Given the description of an element on the screen output the (x, y) to click on. 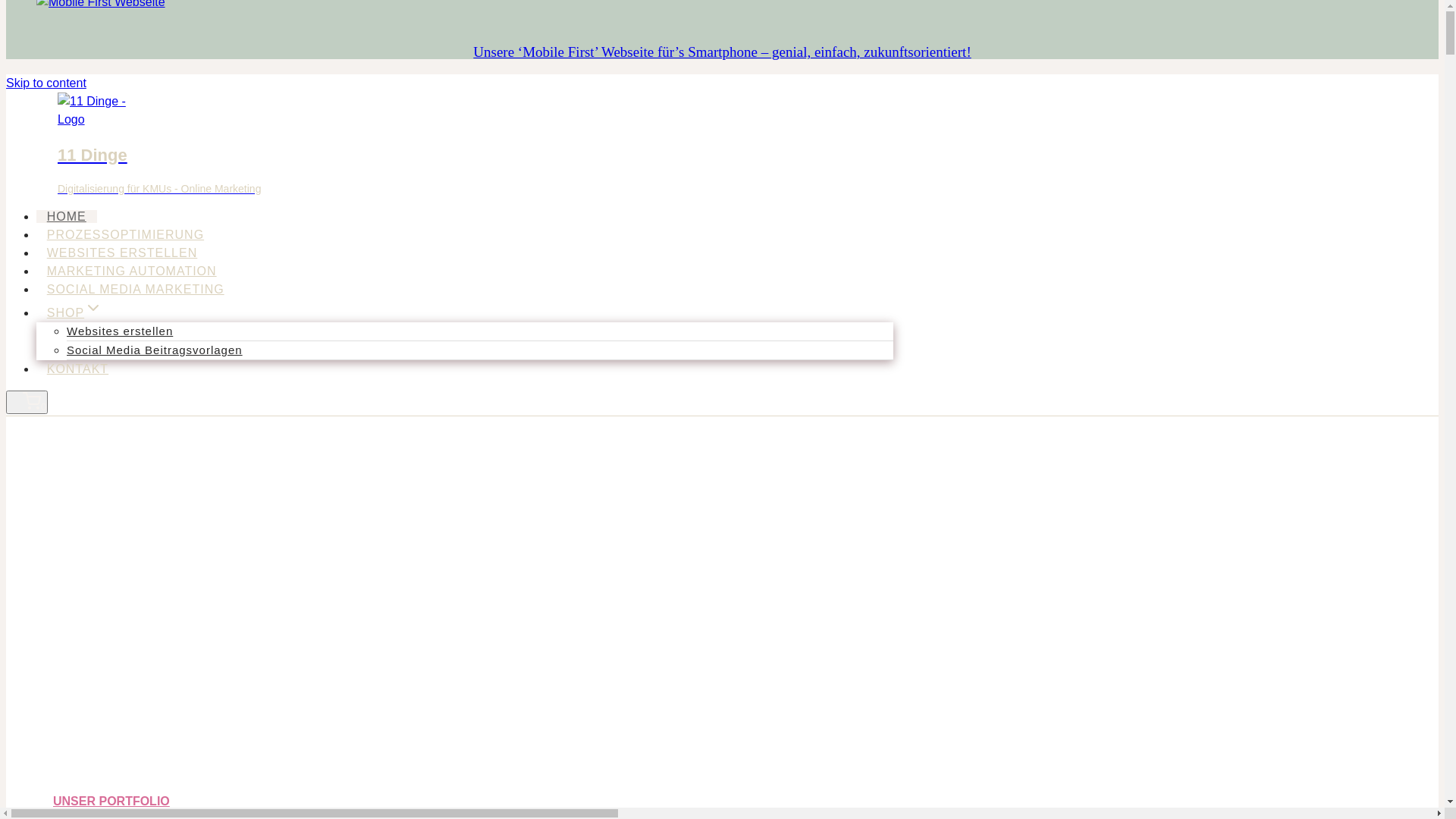
KONTAKT Element type: text (77, 368)
WEBSITES ERSTELLEN Element type: text (121, 252)
PROZESSOPTIMIERUNG Element type: text (125, 234)
SOCIAL MEDIA MARKETING Element type: text (135, 288)
Social Media Beitragsvorlagen Element type: text (154, 349)
HOME Element type: text (66, 216)
Websites erstellen Element type: text (119, 330)
MARKETING AUTOMATION Element type: text (131, 270)
SHOPExpand Element type: text (74, 312)
Skip to content Element type: text (46, 82)
Shopping Cart 0 Element type: text (26, 402)
